Given the description of an element on the screen output the (x, y) to click on. 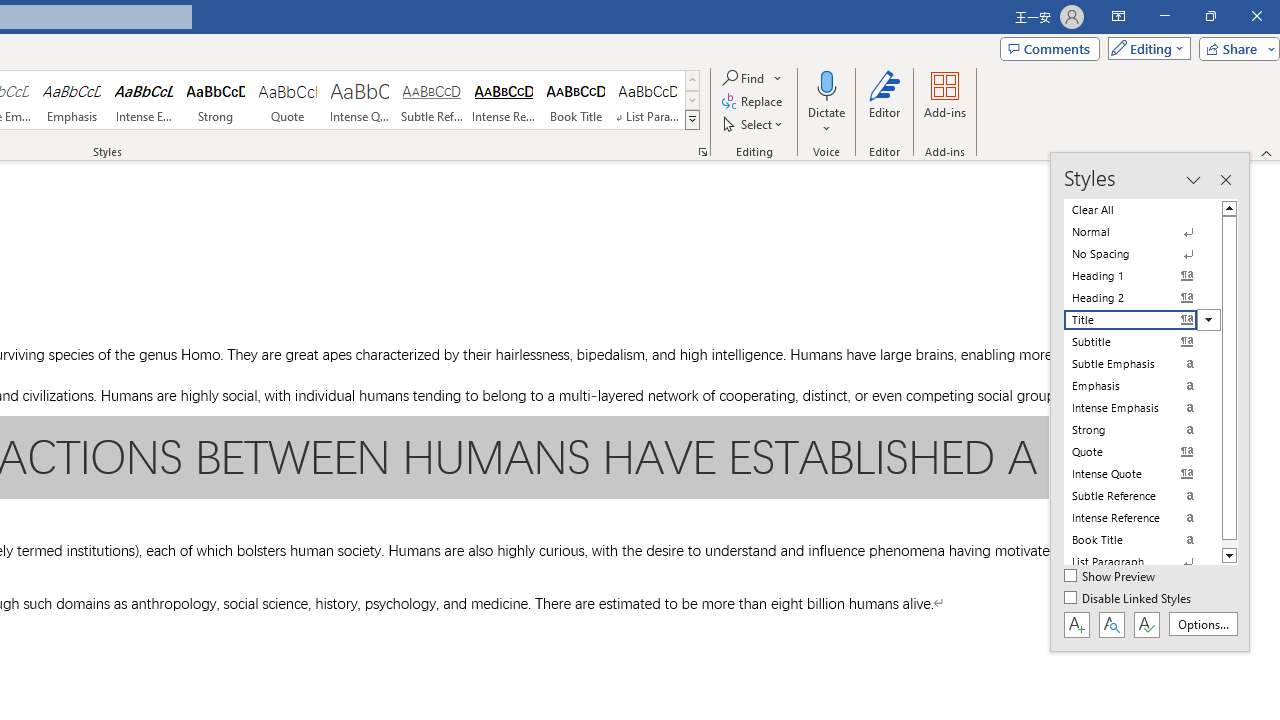
Title (1142, 319)
Subtle Reference (431, 100)
Intense Quote (359, 100)
Options... (1202, 623)
Class: NetUIButton (1146, 624)
